Given the description of an element on the screen output the (x, y) to click on. 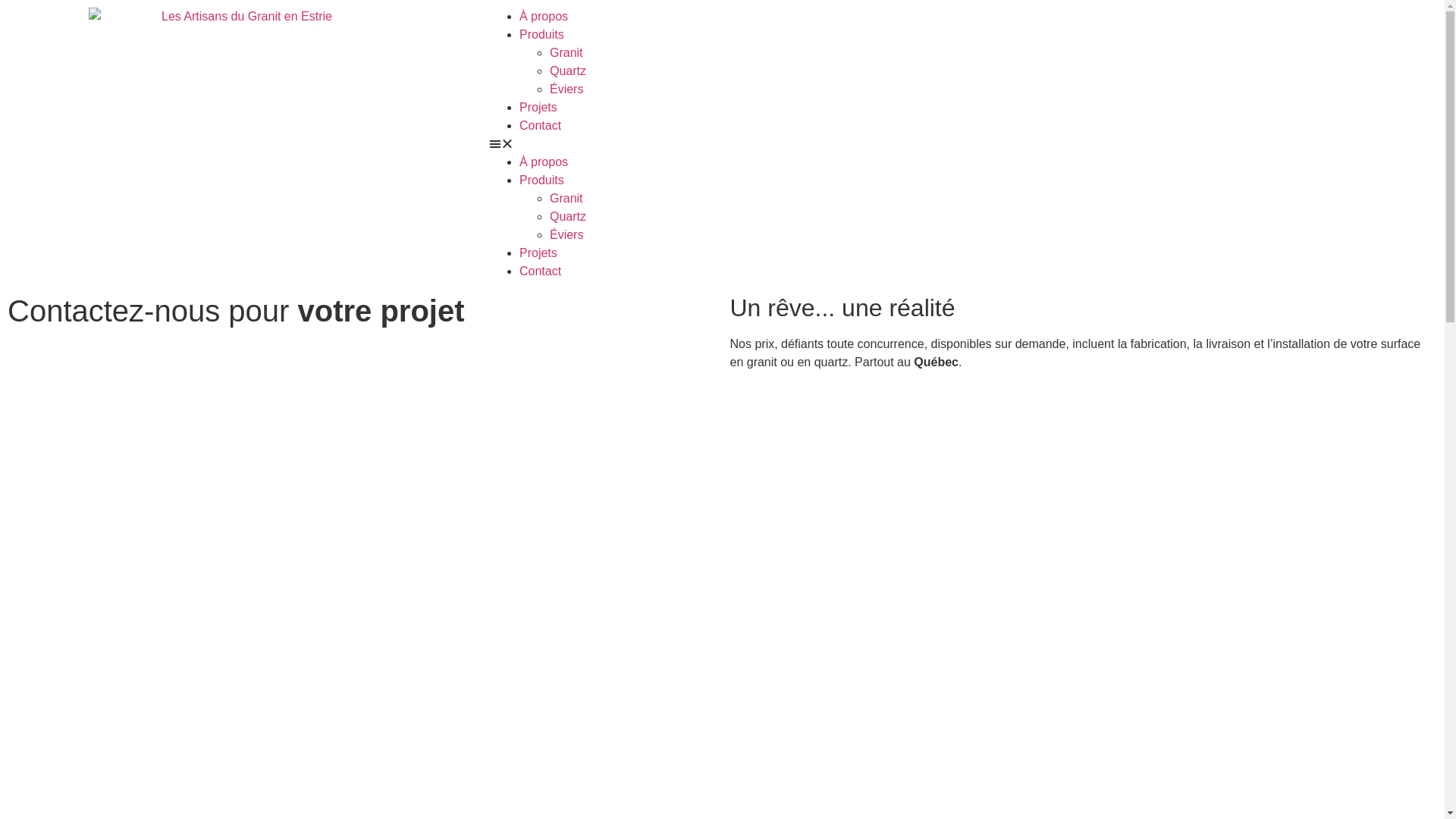
Granit Element type: text (566, 52)
Quartz Element type: text (567, 70)
Contact Element type: text (540, 125)
Produits Element type: text (541, 34)
Projets Element type: text (538, 106)
Contact Element type: text (540, 270)
Quartz Element type: text (567, 216)
Projets Element type: text (538, 252)
Produits Element type: text (541, 179)
Granit Element type: text (566, 197)
